Given the description of an element on the screen output the (x, y) to click on. 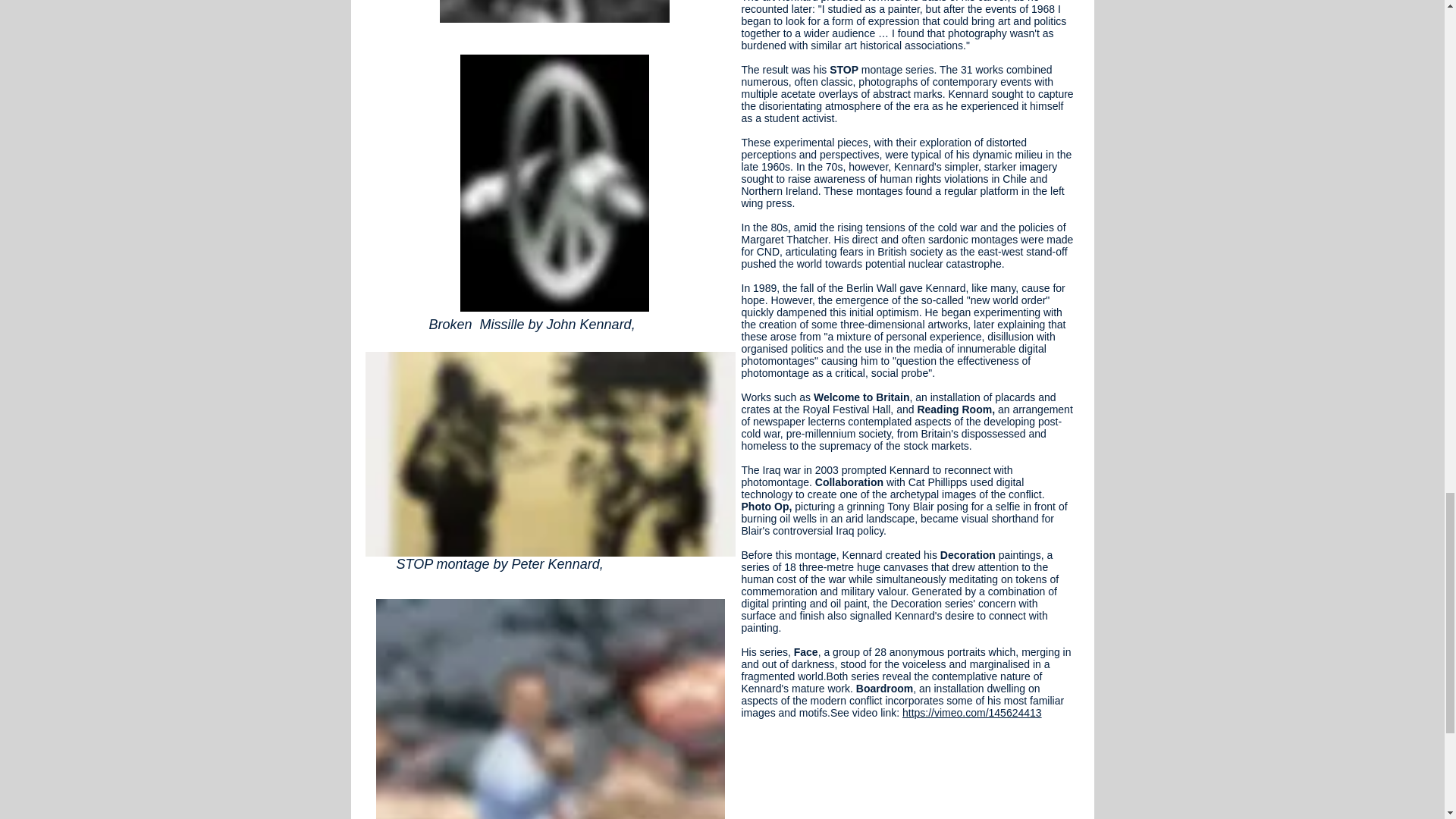
stop.jpg (550, 454)
cnd demo.jpg (554, 11)
